Given the description of an element on the screen output the (x, y) to click on. 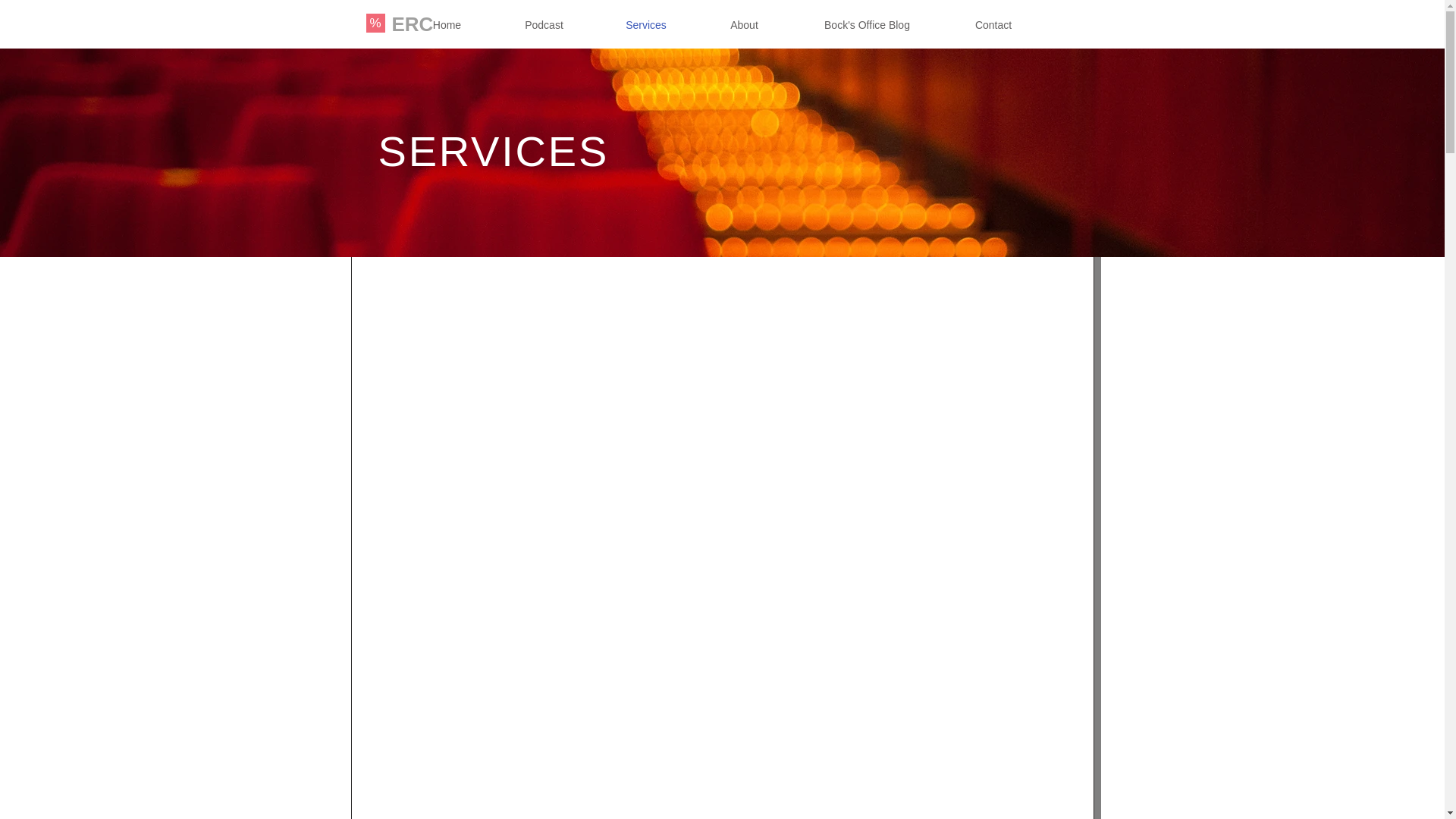
Contact (993, 25)
About (744, 25)
Services (645, 25)
Home (446, 25)
Podcast (543, 25)
ERC (411, 24)
Bock's Office Blog (867, 25)
